Given the description of an element on the screen output the (x, y) to click on. 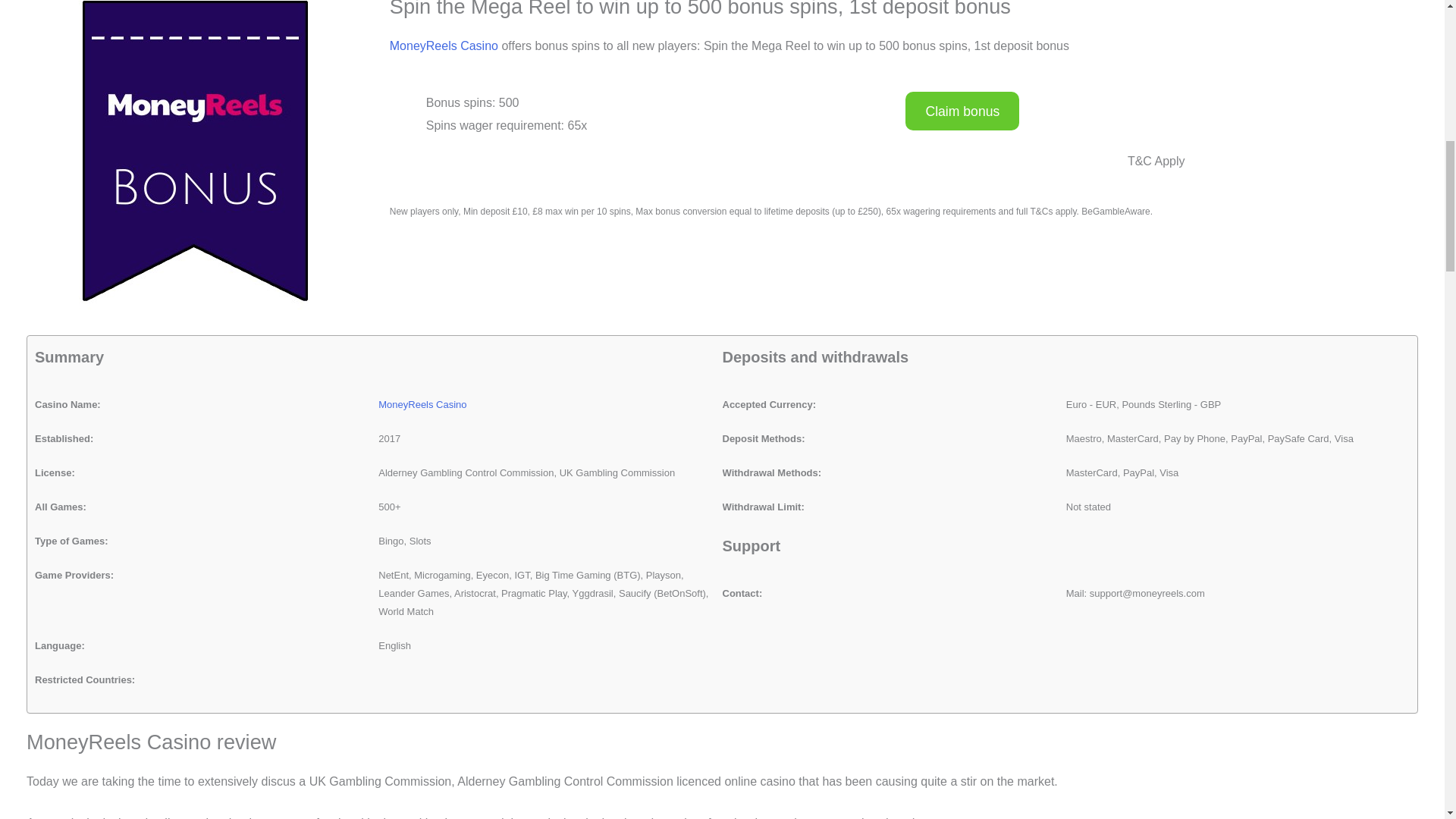
Claim bonus (962, 110)
MoneyReels Casino (421, 404)
MoneyReels Casino (443, 45)
